Given the description of an element on the screen output the (x, y) to click on. 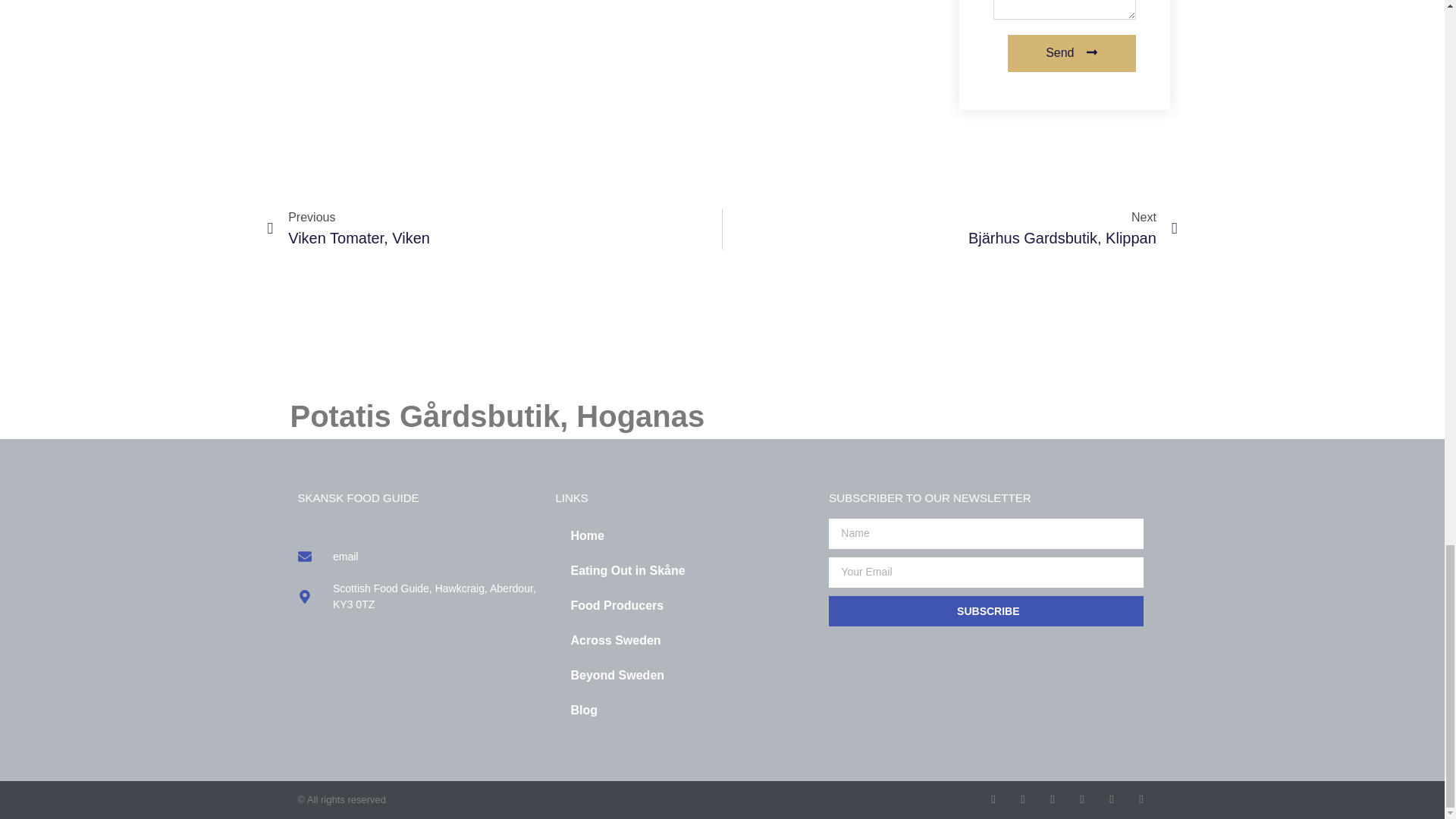
Home (683, 535)
Blog (683, 710)
Across Sweden (683, 640)
Food Producers (494, 228)
email (683, 605)
Beyond Sweden (418, 556)
Send (683, 675)
